Given the description of an element on the screen output the (x, y) to click on. 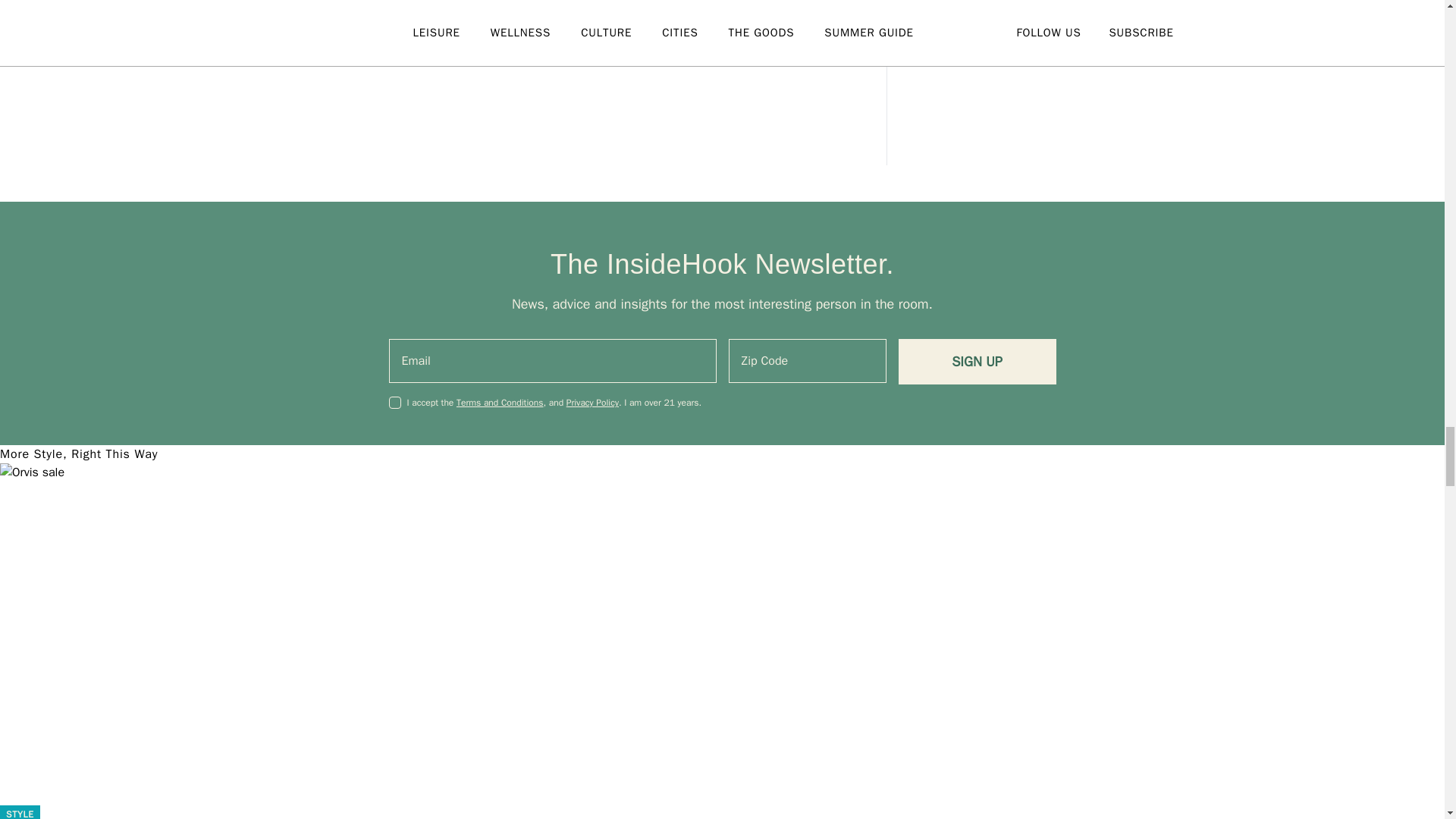
on (394, 402)
